Given the description of an element on the screen output the (x, y) to click on. 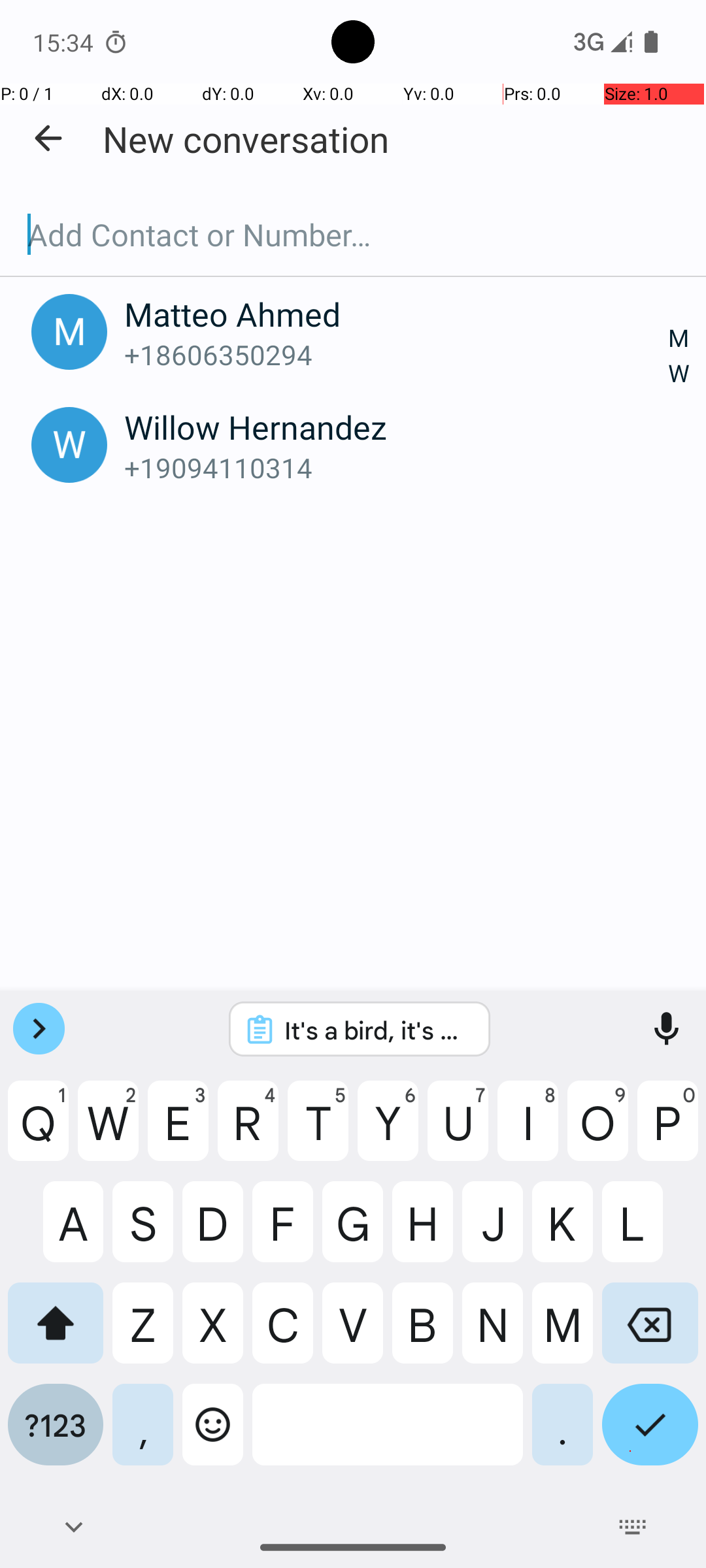
M
W Element type: android.widget.TextView (678, 356)
Matteo Ahmed Element type: android.widget.TextView (397, 313)
+18606350294 Element type: android.widget.TextView (397, 354)
Willow Hernandez Element type: android.widget.TextView (397, 426)
+19094110314 Element type: android.widget.TextView (397, 467)
